Given the description of an element on the screen output the (x, y) to click on. 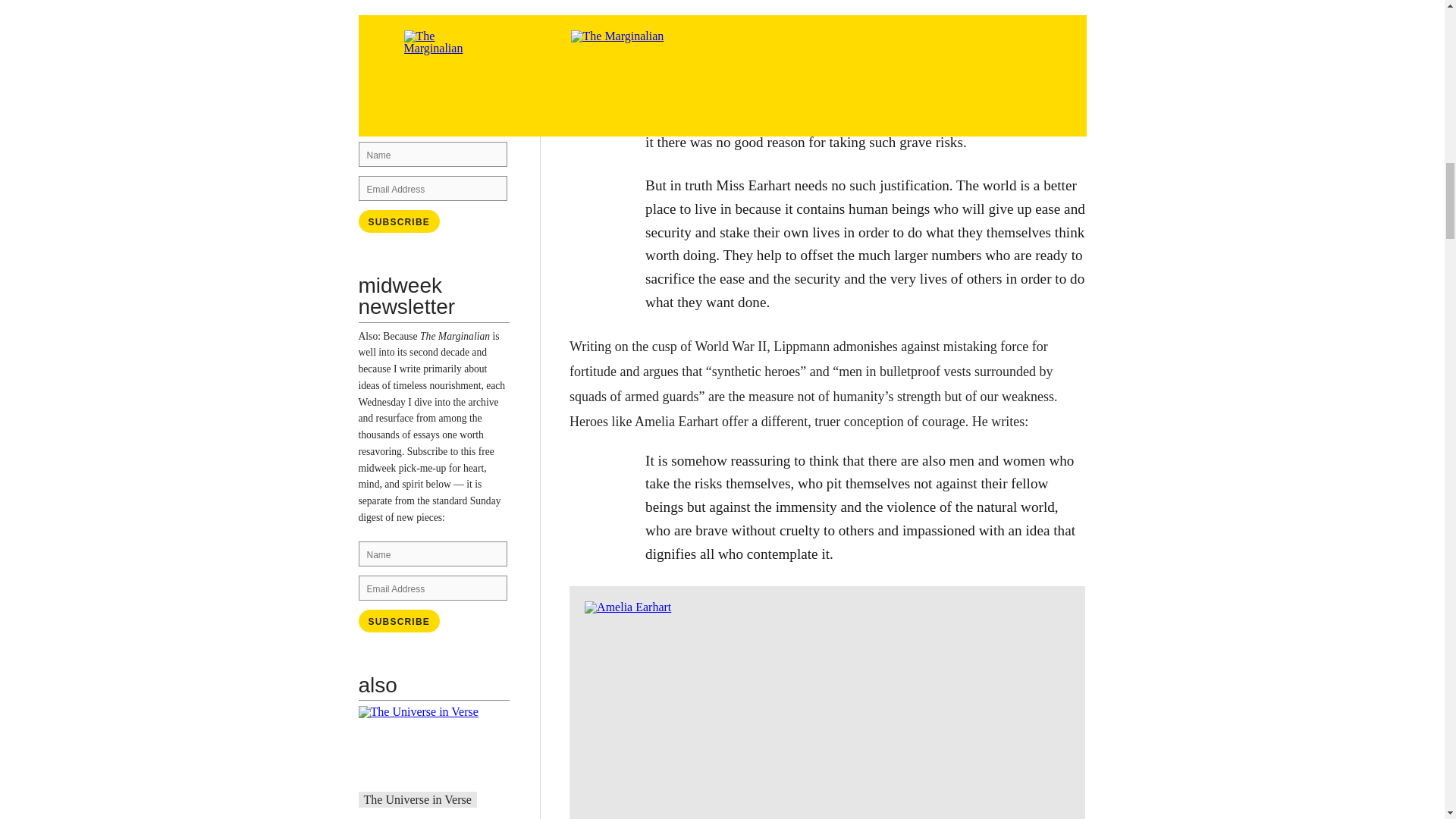
Subscribe (398, 620)
Subscribe (398, 220)
example (449, 101)
Subscribe (398, 620)
The Universe in Verse (417, 799)
Subscribe (398, 220)
